Given the description of an element on the screen output the (x, y) to click on. 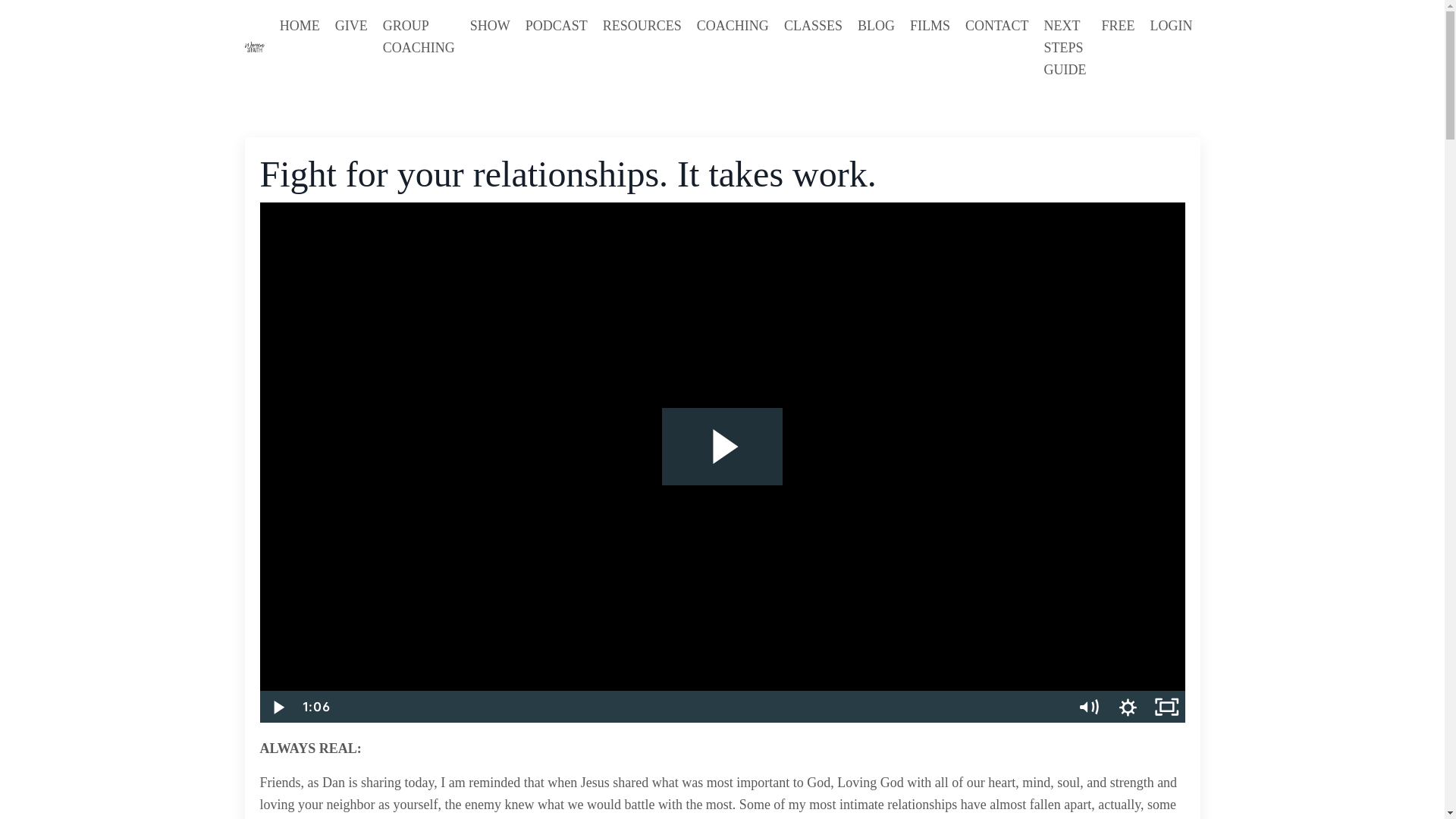
PODCAST (556, 47)
CLASSES (813, 47)
RESOURCES (641, 47)
Play Video (278, 707)
Mute (1089, 707)
Fullscreen (1166, 707)
GROUP COACHING (418, 47)
COACHING (732, 47)
CONTACT (997, 47)
Show settings menu (1127, 707)
